Given the description of an element on the screen output the (x, y) to click on. 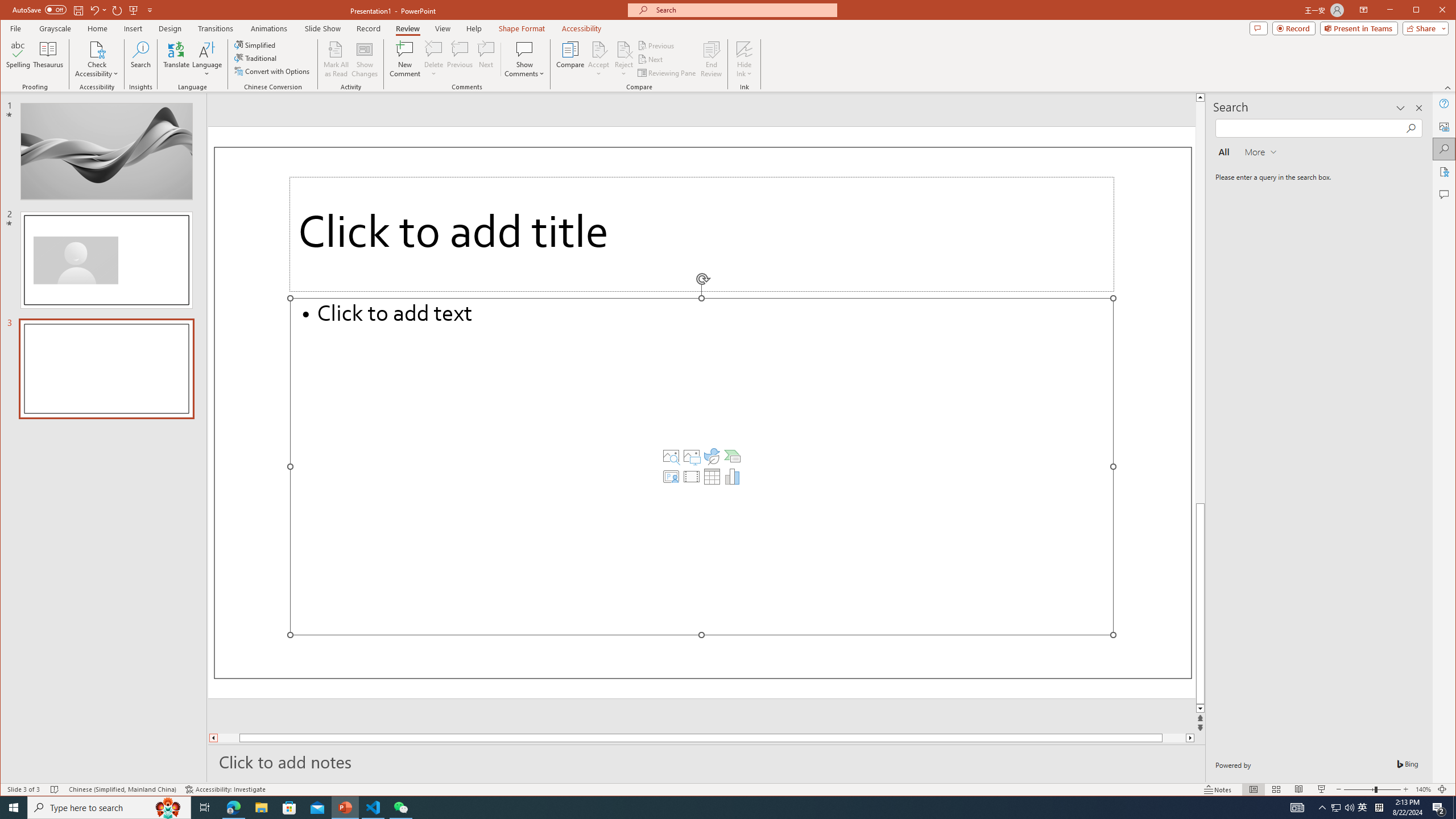
Accept (598, 59)
WeChat - 1 running window (400, 807)
Content Placeholder (701, 466)
